Given the description of an element on the screen output the (x, y) to click on. 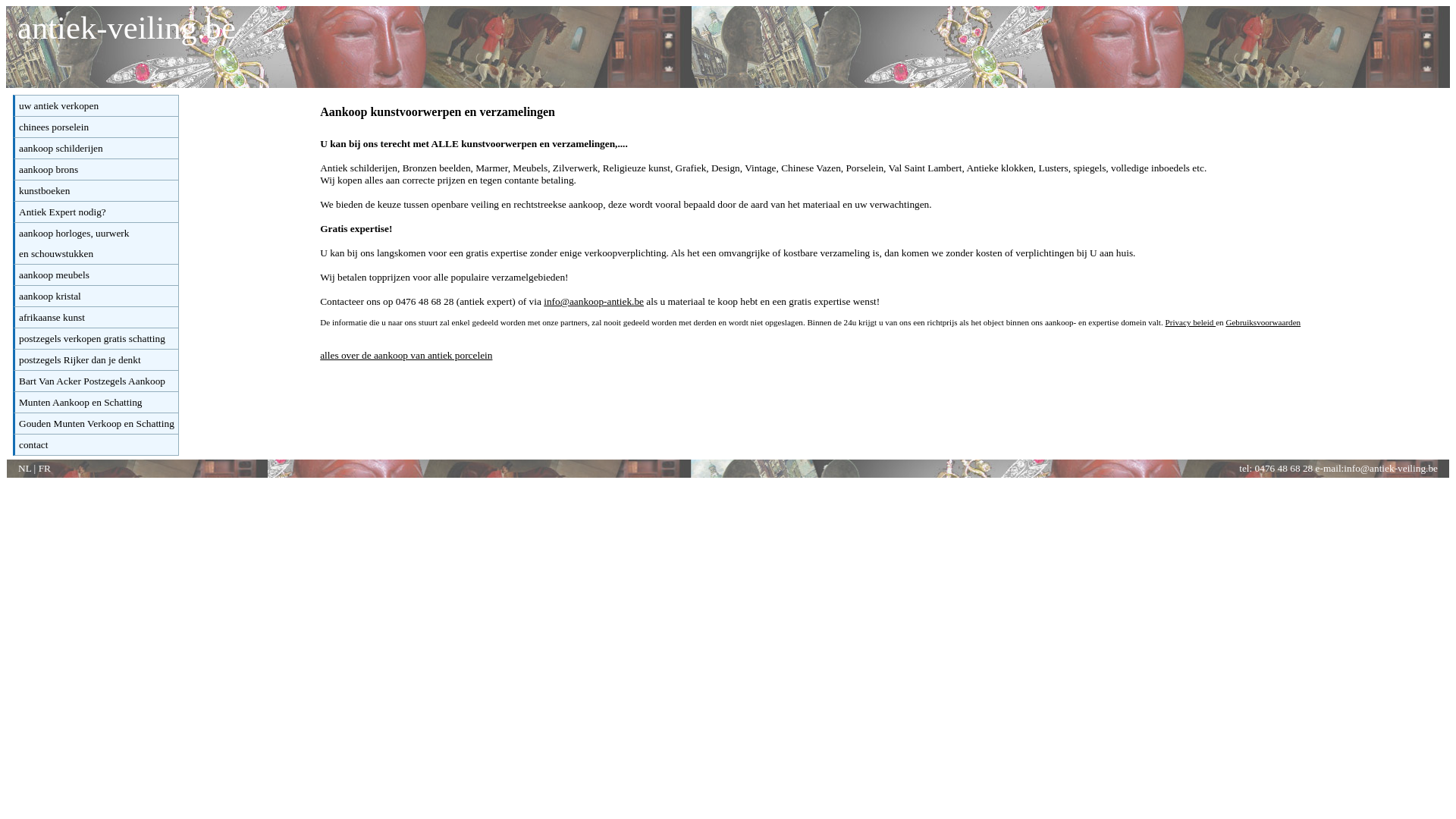
alles over de aankoop van antiek porcelein Element type: text (406, 354)
info@aankoop-antiek.be Element type: text (593, 301)
postzegels verkopen gratis schatting Element type: text (91, 338)
Gouden Munten Verkoop en Schatting Element type: text (96, 423)
Gebruiksvoorwaarden Element type: text (1262, 321)
FR Element type: text (44, 467)
aankoop brons Element type: text (48, 169)
Munten Aankoop en Schatting Element type: text (80, 401)
aankoop horloges, uurwerk
en schouwstukken Element type: text (73, 243)
Antiek Expert nodig? Element type: text (62, 211)
postzegels Rijker dan je denkt Element type: text (79, 359)
Privacy beleid Element type: text (1189, 321)
kunstboeken Element type: text (43, 190)
aankoop kristal Element type: text (49, 295)
uw antiek verkopen Element type: text (58, 105)
chinees porselein Element type: text (53, 126)
aankoop schilderijen Element type: text (60, 147)
NL Element type: text (24, 467)
Bart Van Acker Postzegels Aankoop Element type: text (91, 380)
afrikaanse kunst Element type: text (51, 317)
contact Element type: text (32, 444)
aankoop meubels Element type: text (53, 274)
